Given the description of an element on the screen output the (x, y) to click on. 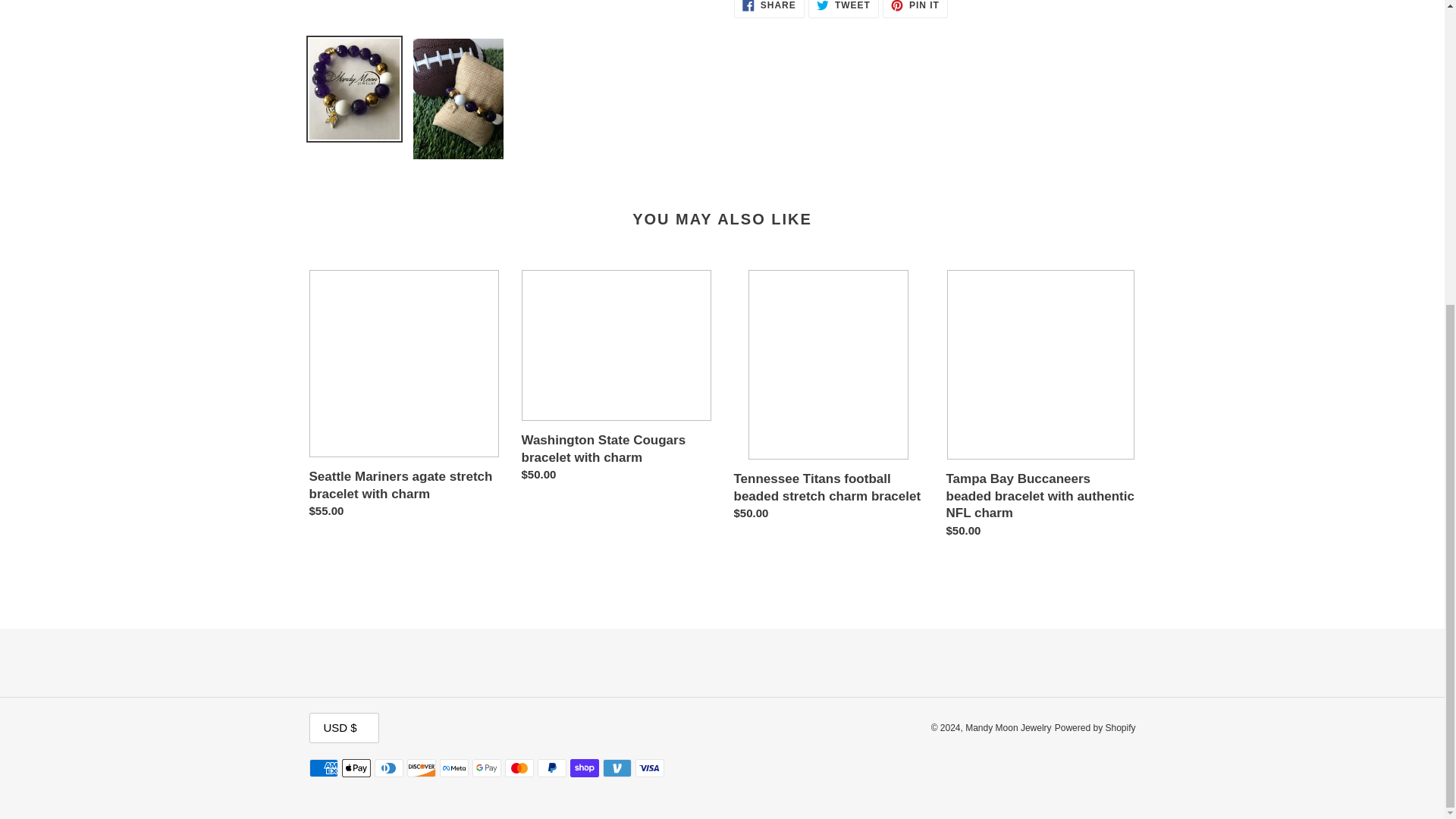
Washington State Cougars bracelet with charm (914, 9)
Seattle Mariners agate stretch bracelet with charm (616, 379)
Tennessee Titans football beaded stretch charm bracelet (769, 9)
